Given the description of an element on the screen output the (x, y) to click on. 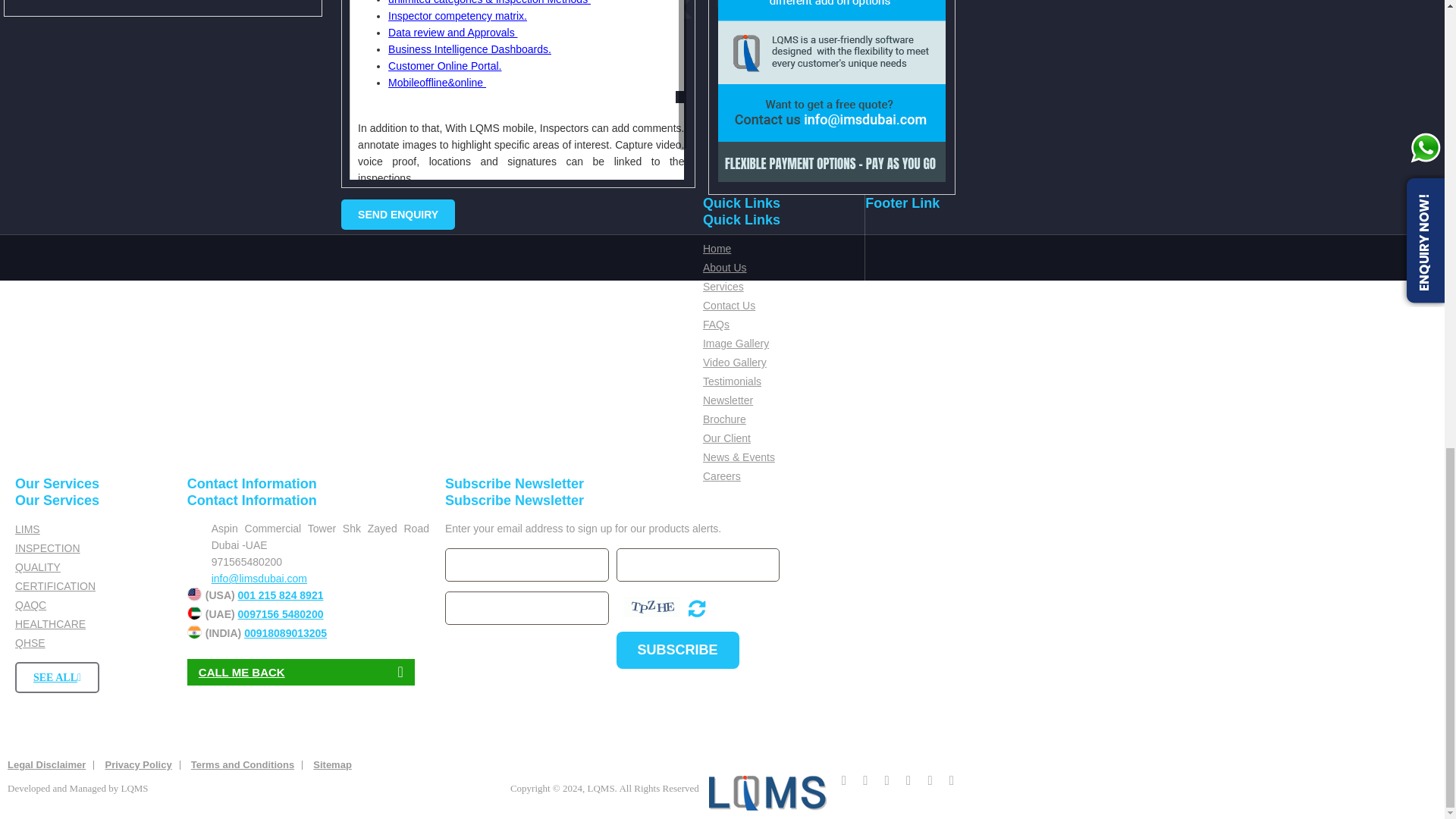
Subscribe (677, 650)
